Given the description of an element on the screen output the (x, y) to click on. 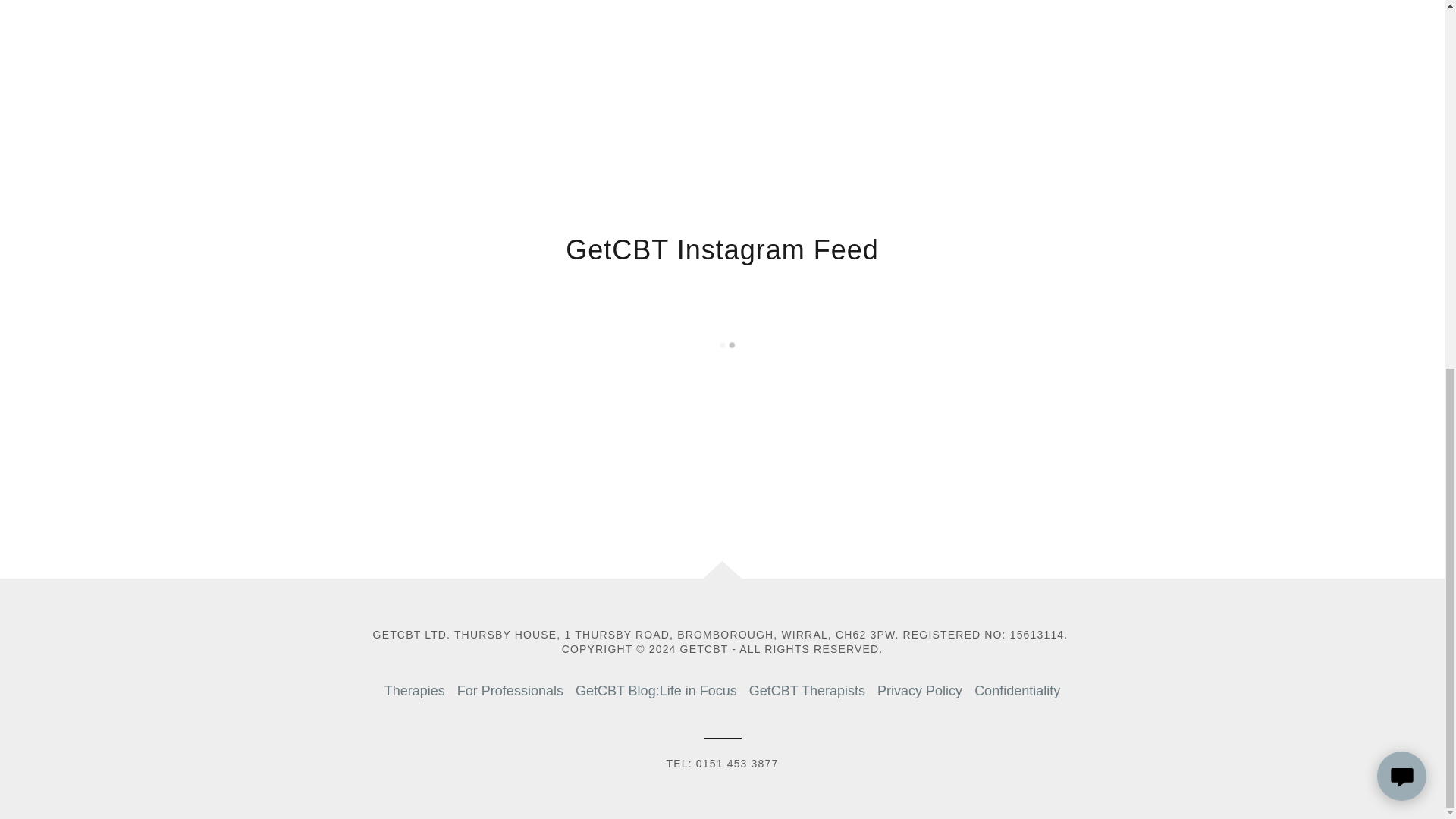
For Professionals (510, 690)
Confidentiality (1016, 690)
DECLINE (1203, 476)
GetCBT Blog:Life in Focus (655, 690)
ACCEPT (1345, 476)
Privacy Policy (919, 690)
Therapies (414, 690)
GetCBT Therapists (806, 690)
